Given the description of an element on the screen output the (x, y) to click on. 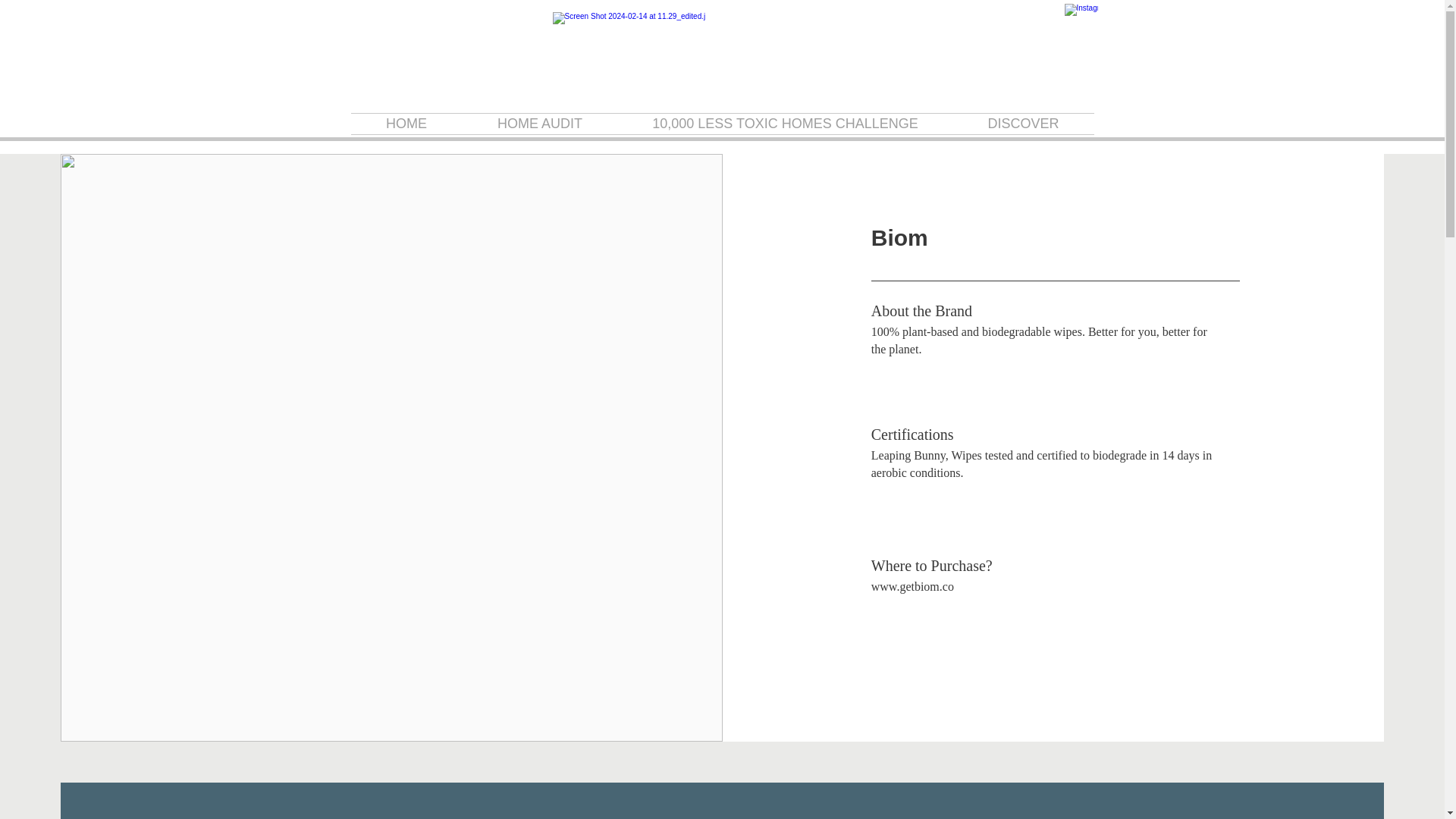
www.getbiom.co (911, 585)
10,000 LESS TOXIC HOMES CHALLENGE (784, 123)
DISCOVER (1022, 123)
HOME AUDIT (540, 123)
HOME (405, 123)
